Given the description of an element on the screen output the (x, y) to click on. 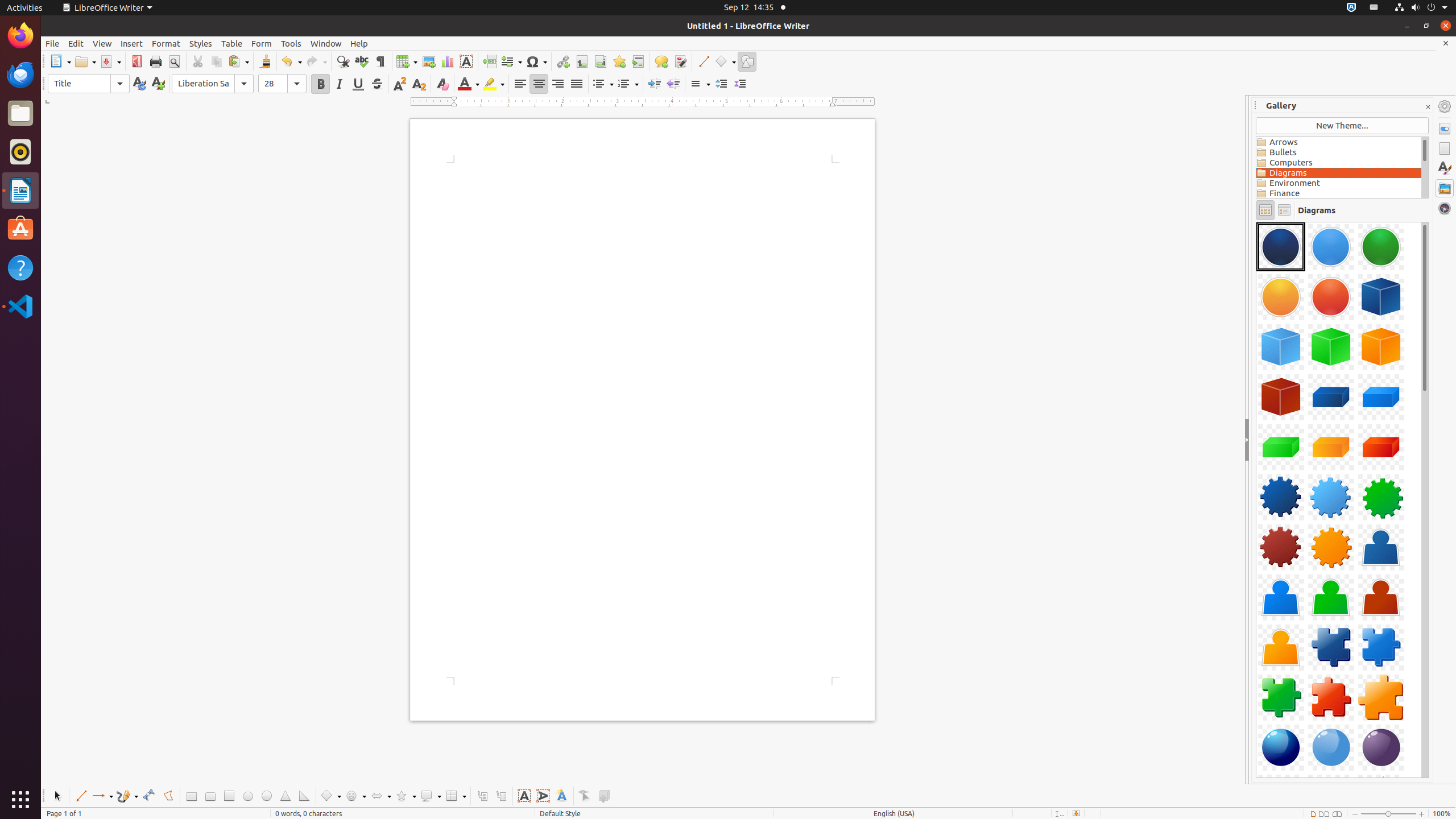
Superscript Element type: toggle-button (399, 83)
Component-Person01-DarkBlue Element type: list-item (1380, 546)
New Element type: push-button (157, 83)
Cross-reference Element type: push-button (637, 61)
Component-PuzzlePiece02-Blue Element type: list-item (1380, 646)
